Given the description of an element on the screen output the (x, y) to click on. 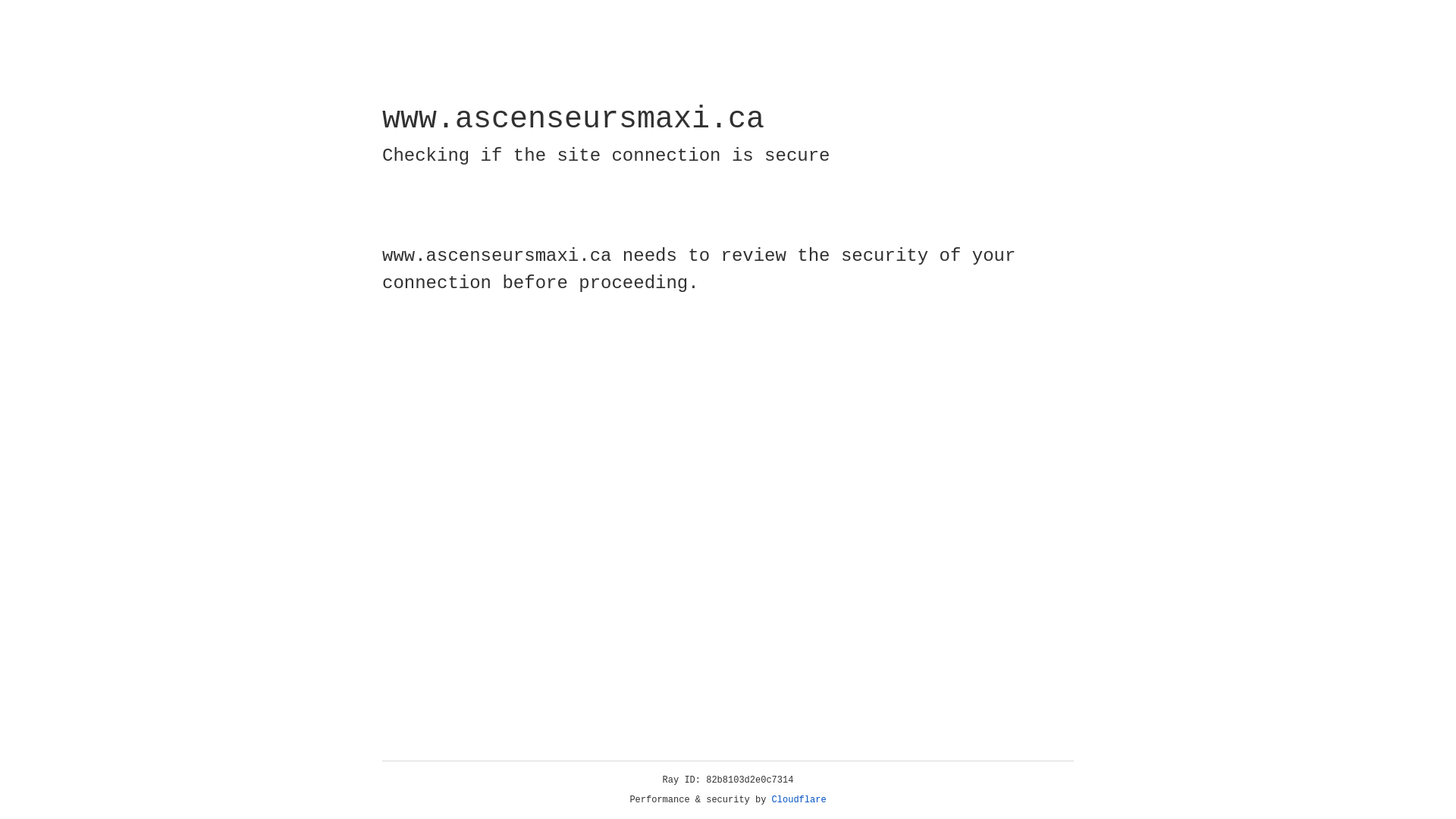
Cloudflare Element type: text (798, 799)
